Given the description of an element on the screen output the (x, y) to click on. 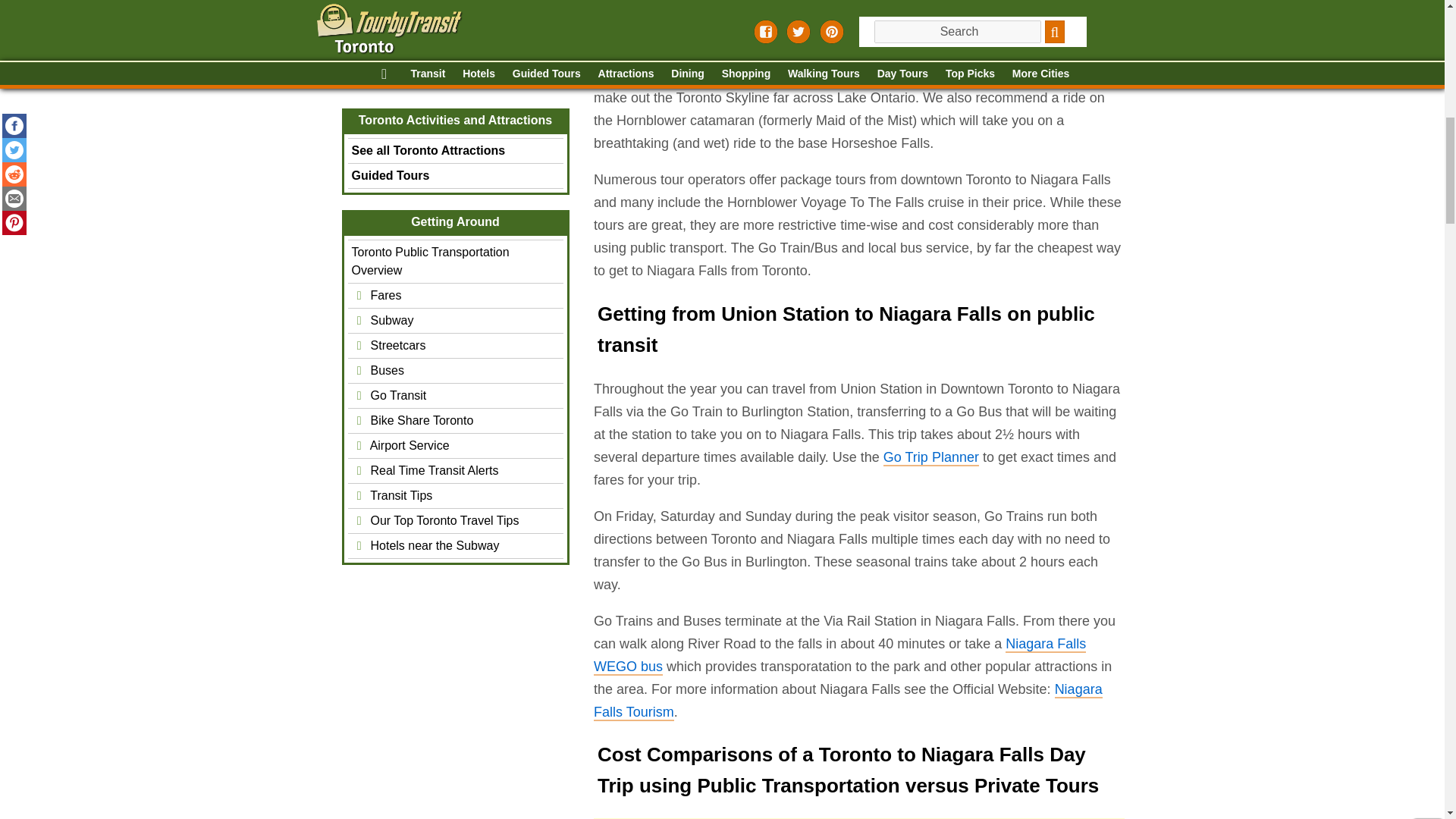
Go Trip Planner (930, 457)
Share an image on Pinterest (825, 36)
Niagara Falls Tourism (847, 701)
Niagara Falls WEGO bus (838, 655)
